Given the description of an element on the screen output the (x, y) to click on. 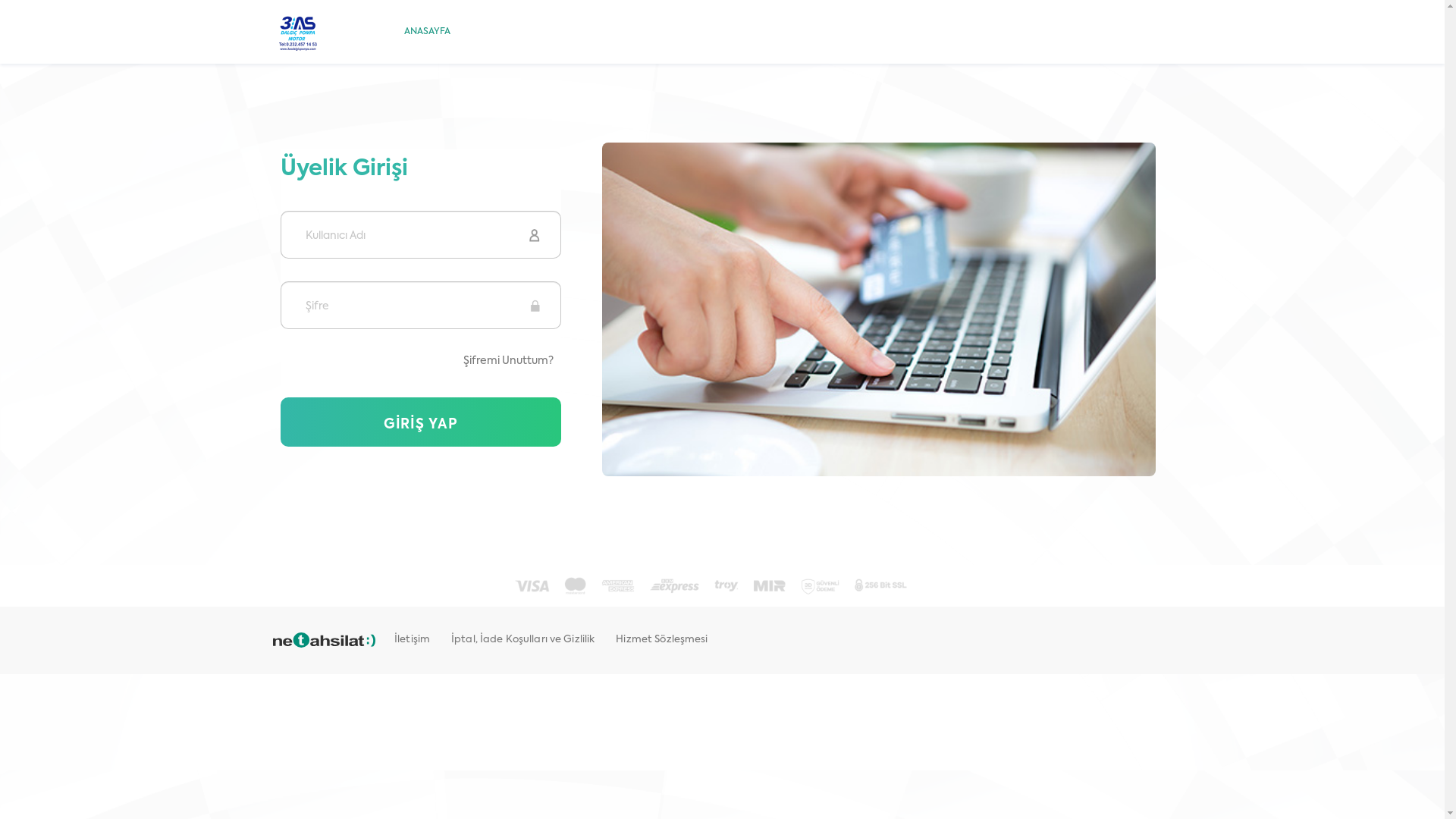
ANASAYFA Element type: text (427, 31)
